Given the description of an element on the screen output the (x, y) to click on. 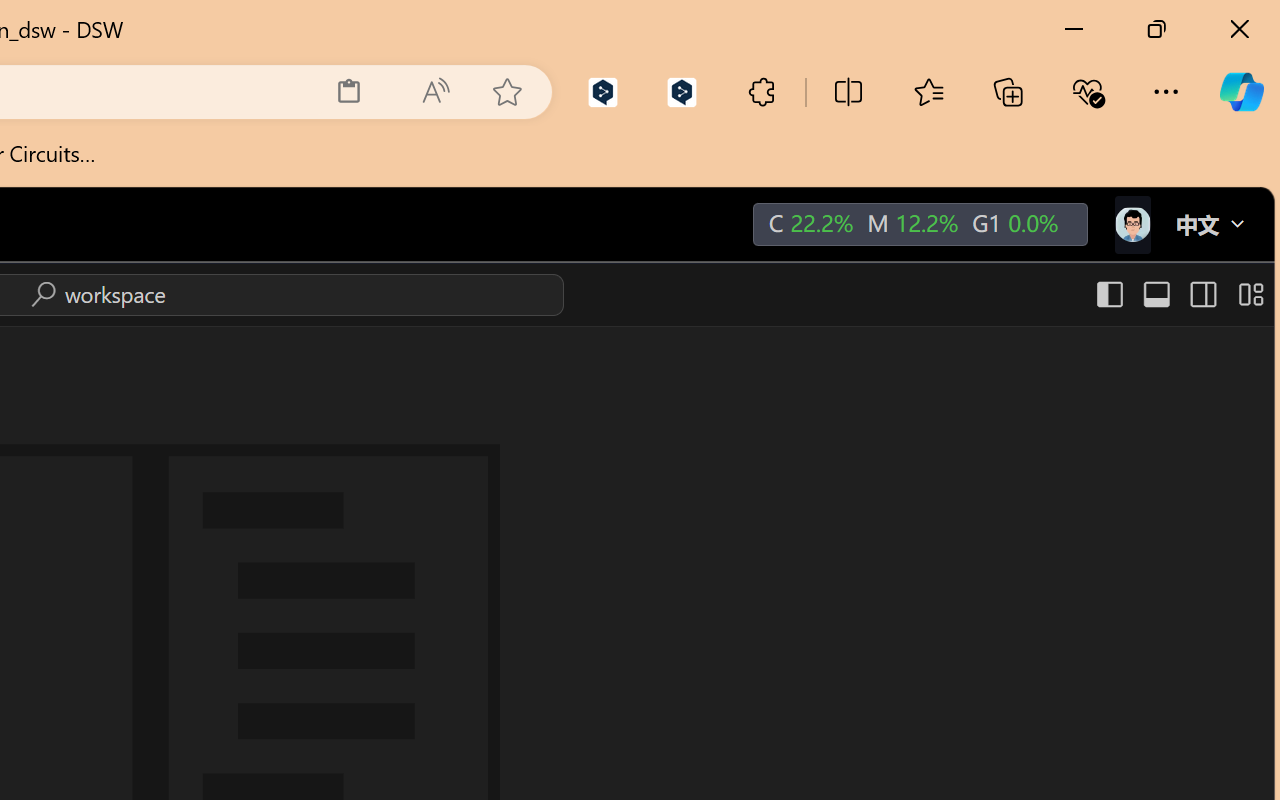
Toggle Panel (Ctrl+J) (1155, 294)
Title actions (1178, 294)
Copilot (Ctrl+Shift+.) (1241, 91)
Toggle Primary Side Bar (Ctrl+B) (1108, 294)
